Given the description of an element on the screen output the (x, y) to click on. 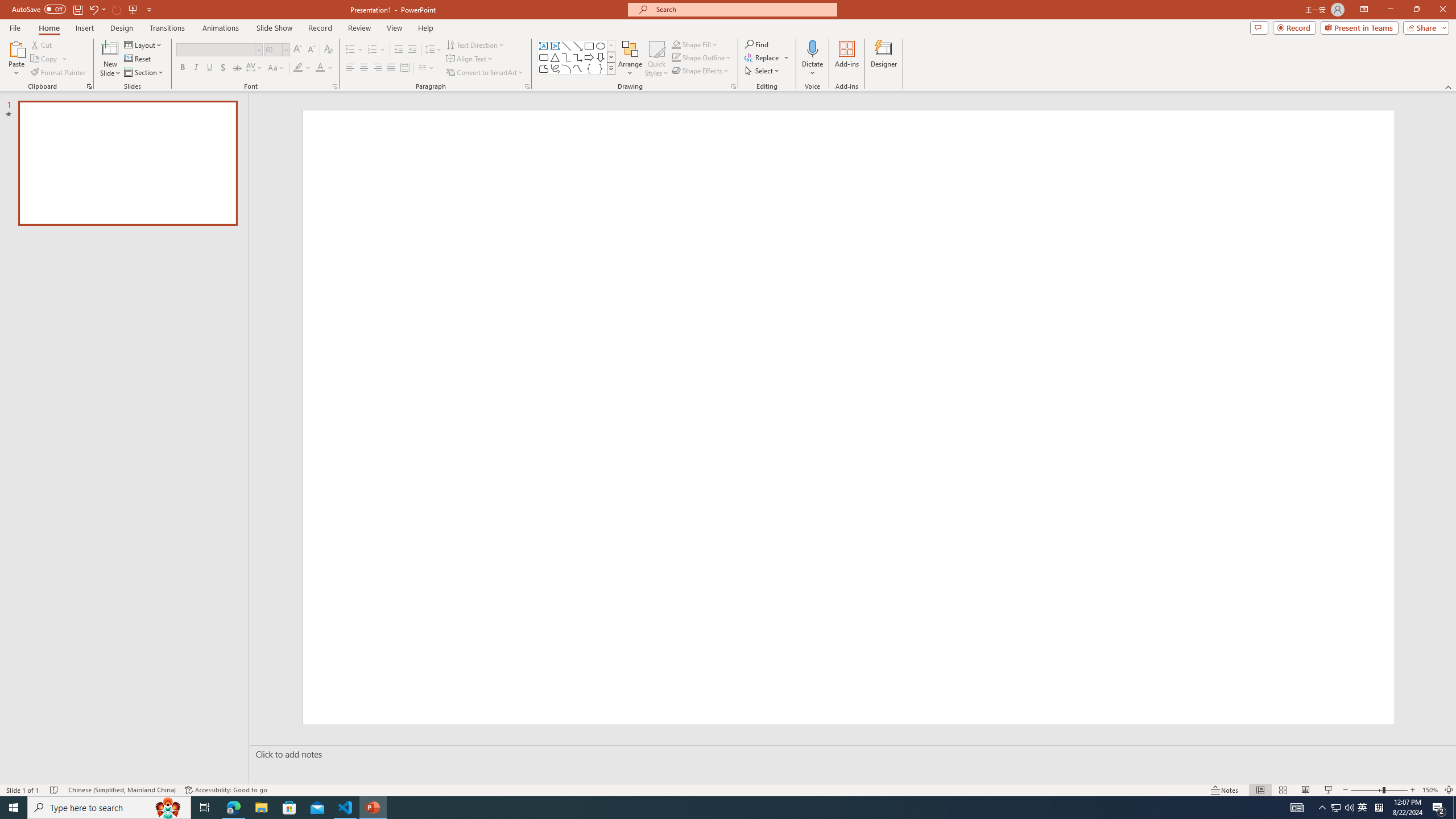
Bold (182, 67)
Find... (756, 44)
Line (566, 45)
Paragraph... (526, 85)
Office Clipboard... (88, 85)
AutomationID: ShapesInsertGallery (576, 57)
Shape Fill (694, 44)
Paste (16, 58)
Section (144, 72)
Font (215, 49)
Row up (611, 45)
Connector: Elbow (566, 57)
